Given the description of an element on the screen output the (x, y) to click on. 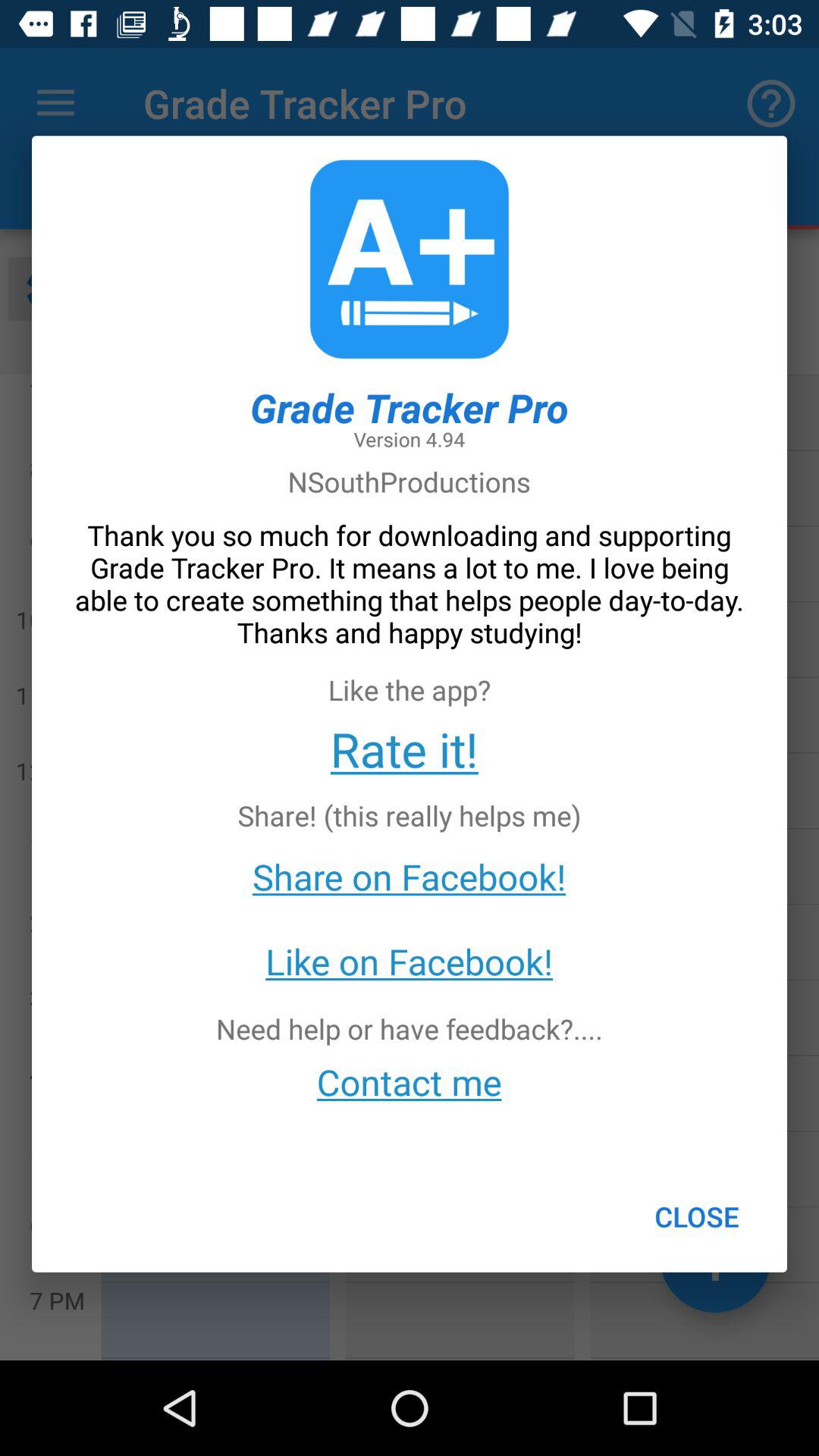
swipe to the contact me (408, 1081)
